Given the description of an element on the screen output the (x, y) to click on. 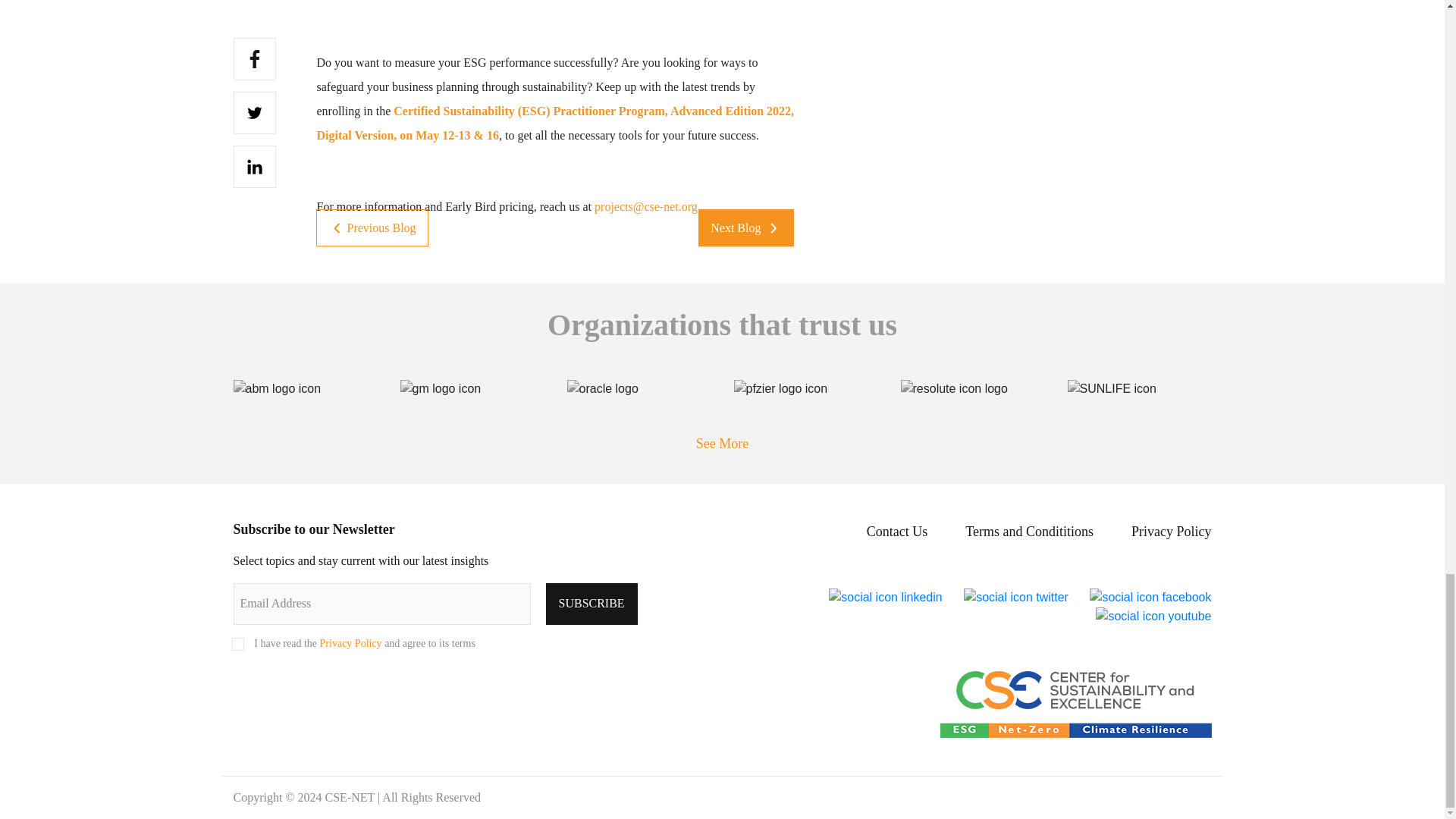
SUBSCRIBE (591, 603)
1 (237, 644)
